Given the description of an element on the screen output the (x, y) to click on. 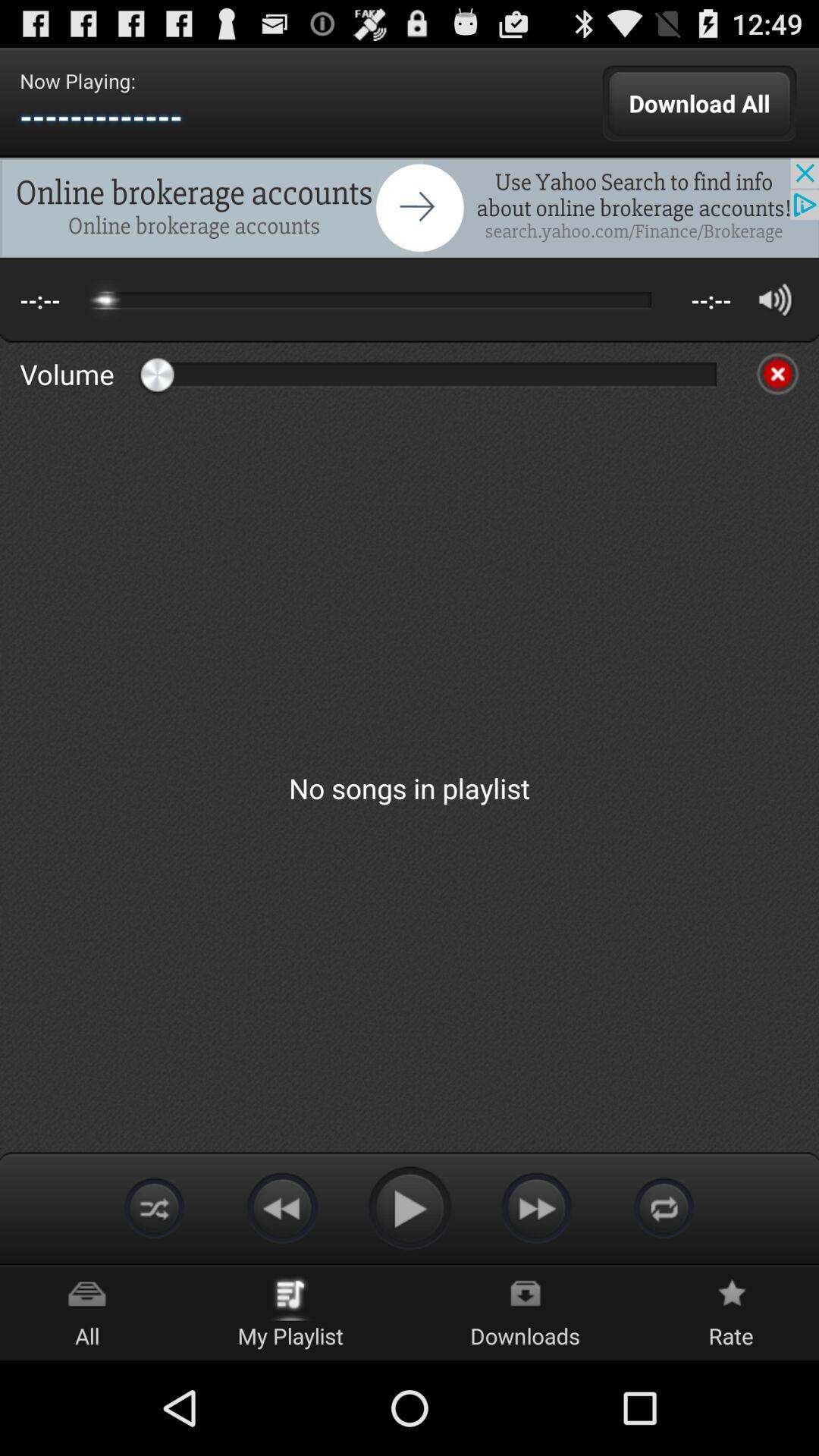
sound (775, 299)
